Given the description of an element on the screen output the (x, y) to click on. 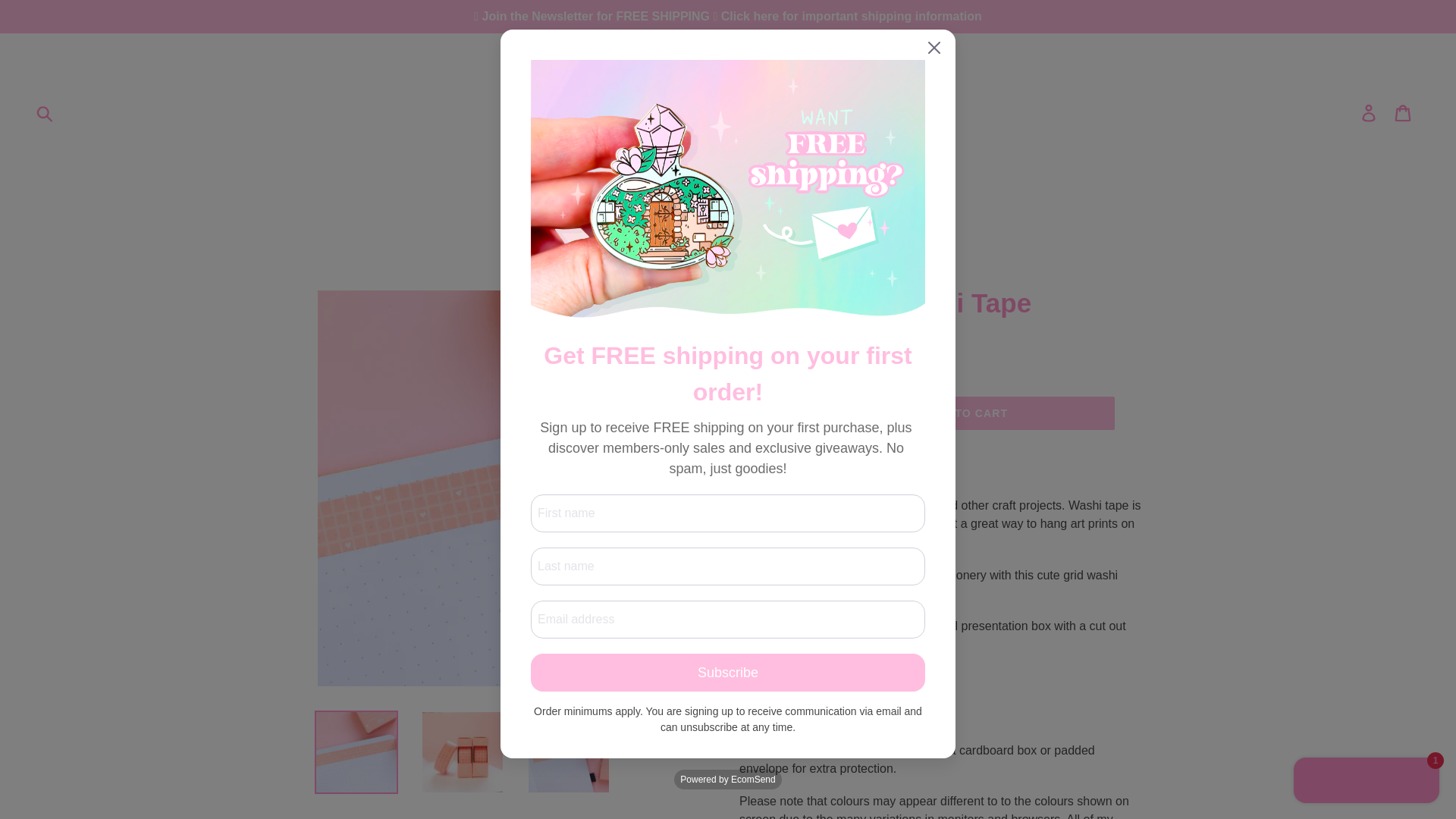
1 (776, 412)
Log in (1369, 112)
Shopify online store chat (1366, 781)
Submit (45, 112)
Cart (1404, 112)
